Given the description of an element on the screen output the (x, y) to click on. 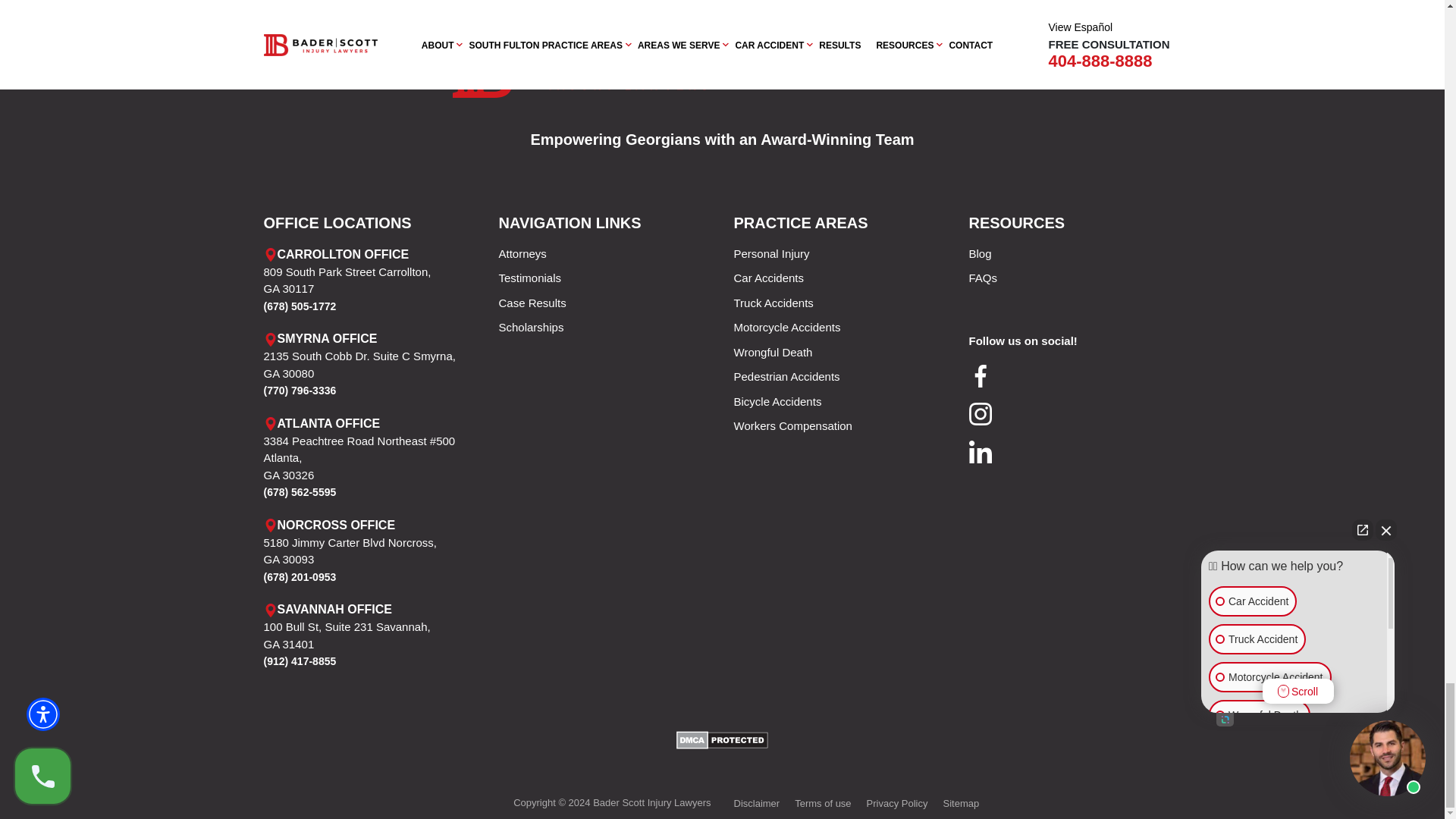
DMCA.com Protection Status (722, 738)
